Given the description of an element on the screen output the (x, y) to click on. 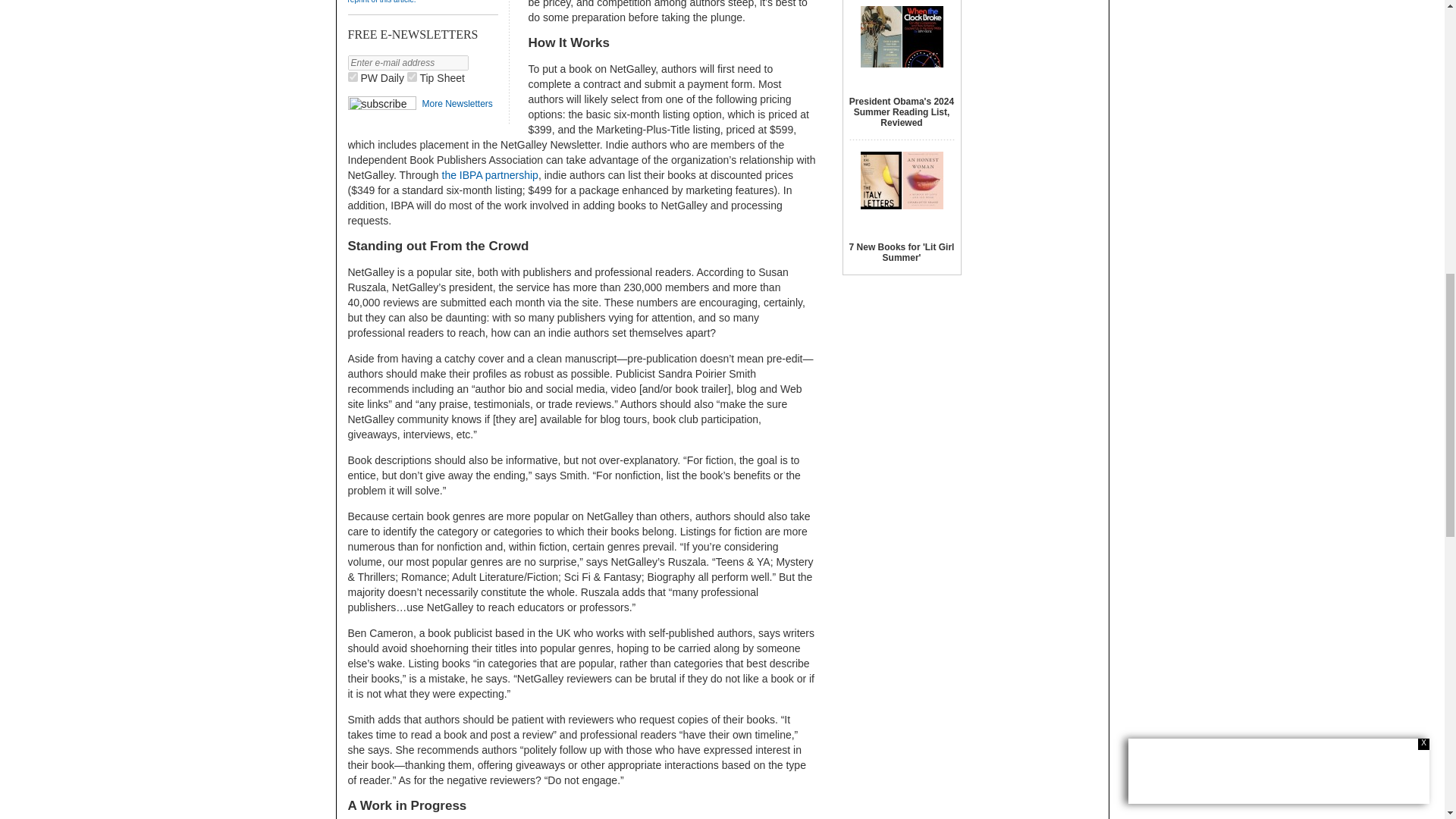
1 (351, 76)
subscribe (380, 102)
6 (411, 76)
